Given the description of an element on the screen output the (x, y) to click on. 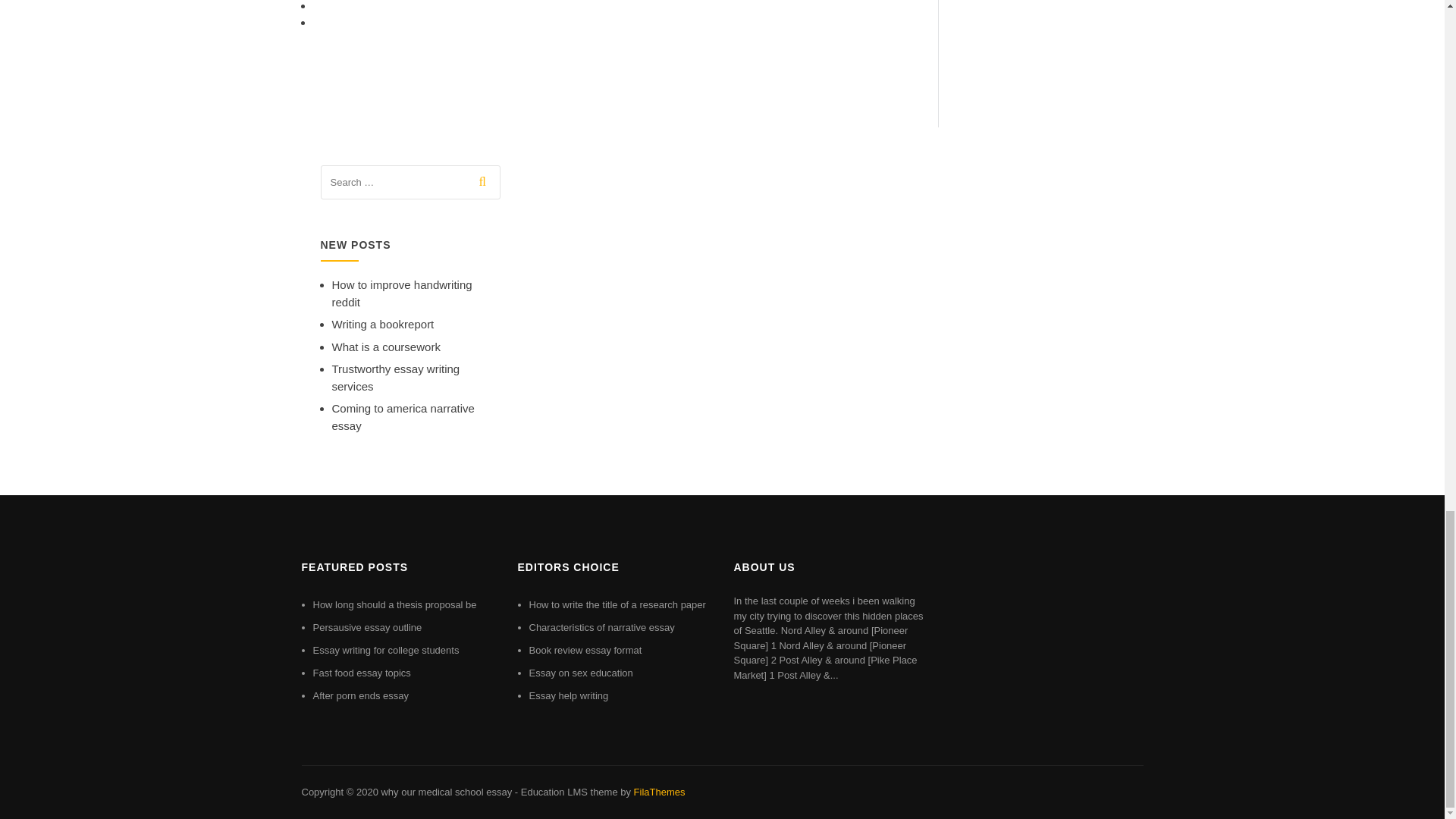
How to write the title of a research paper (617, 604)
why our medical school essay (446, 791)
What is a coursework (386, 346)
Essay help writing (568, 695)
How long should a thesis proposal be (394, 604)
Fast food essay topics (361, 672)
Coming to america narrative essay (402, 417)
Writing a bookreport (382, 323)
Persausive essay outline (367, 627)
Trustworthy essay writing services (395, 377)
Book review essay format (585, 650)
Essay writing for college students (385, 650)
How to improve handwriting reddit (401, 293)
why our medical school essay (446, 791)
Characteristics of narrative essay (602, 627)
